Given the description of an element on the screen output the (x, y) to click on. 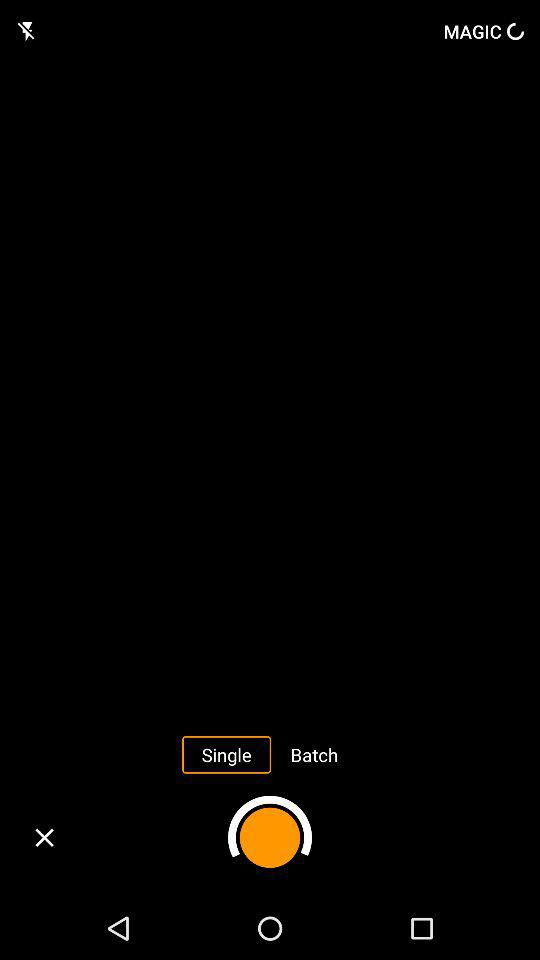
select item to the left of the magic (27, 31)
